Given the description of an element on the screen output the (x, y) to click on. 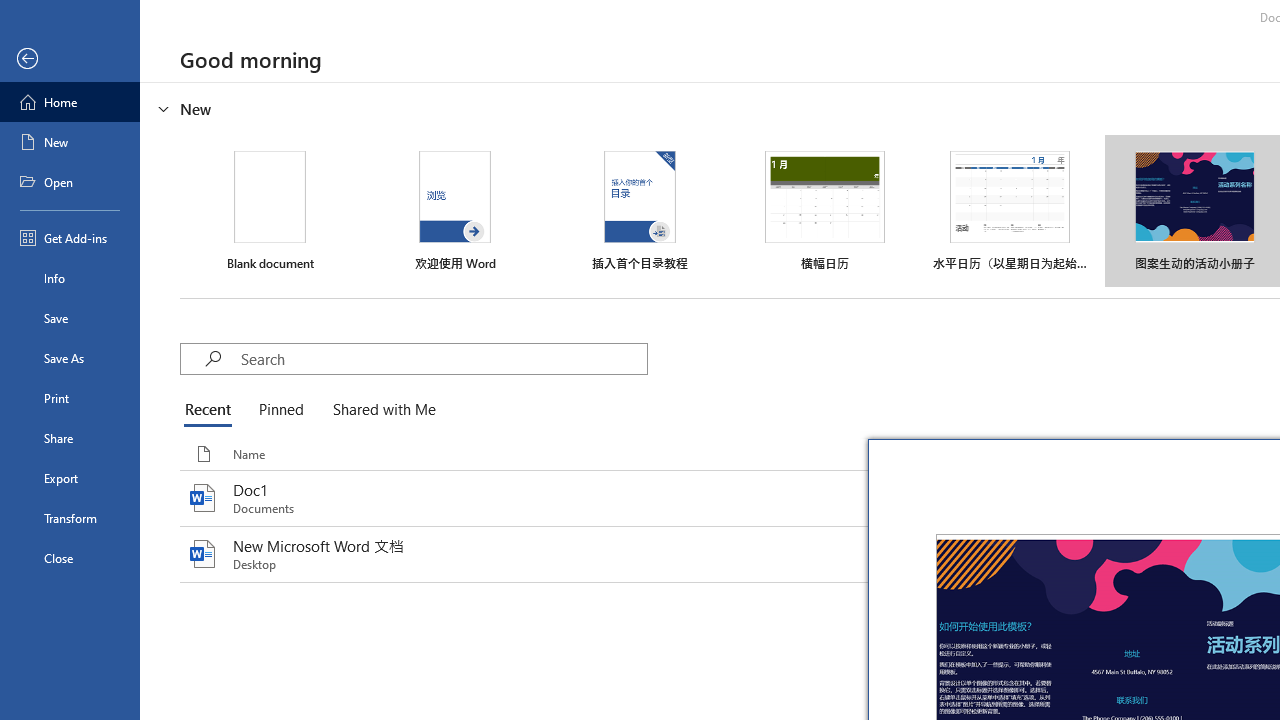
Export (69, 477)
Back (69, 59)
Hide or show region (164, 108)
Recent (212, 410)
Transform (69, 517)
Blank document (269, 211)
